Given the description of an element on the screen output the (x, y) to click on. 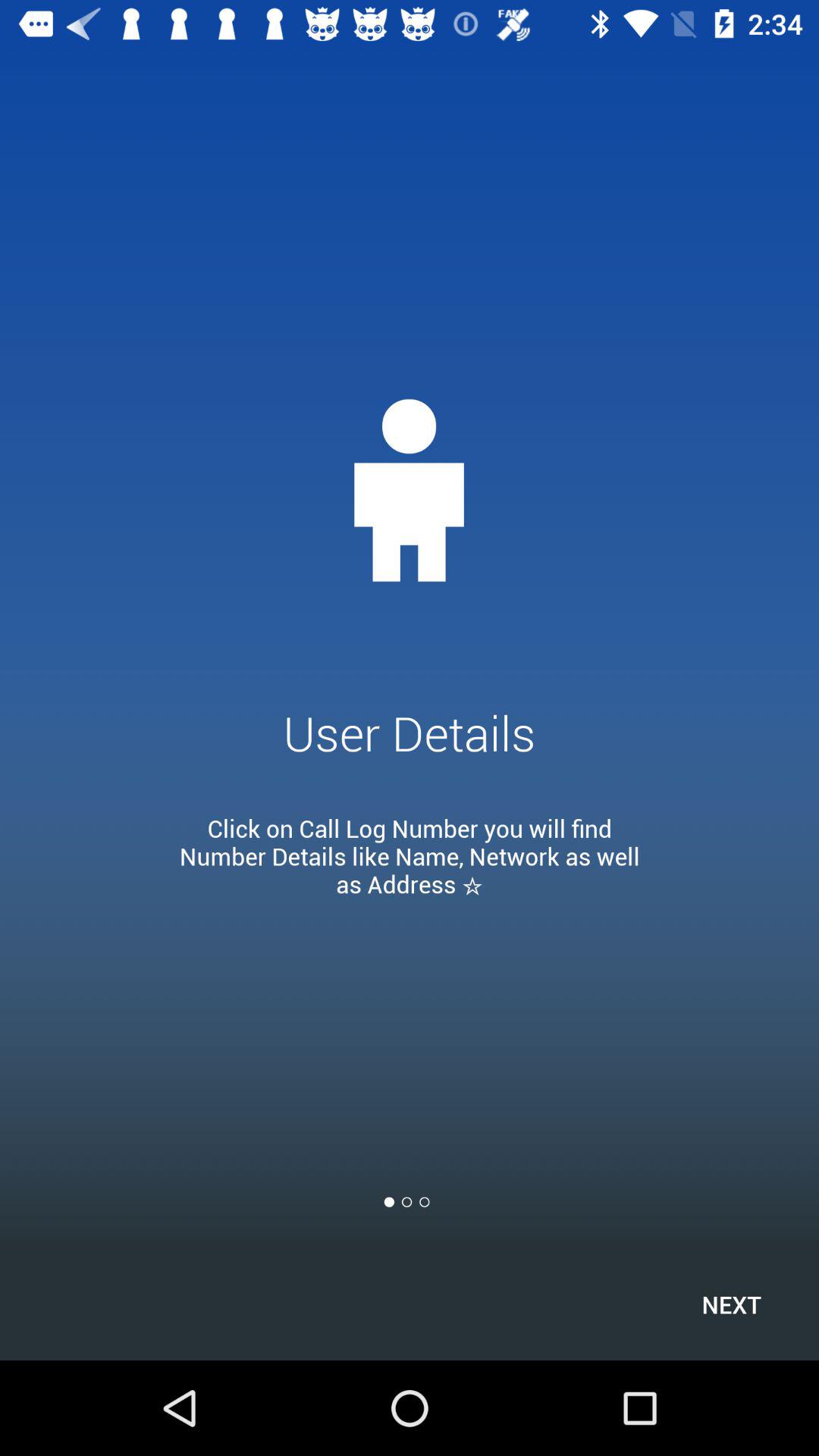
press item at the bottom right corner (731, 1304)
